Given the description of an element on the screen output the (x, y) to click on. 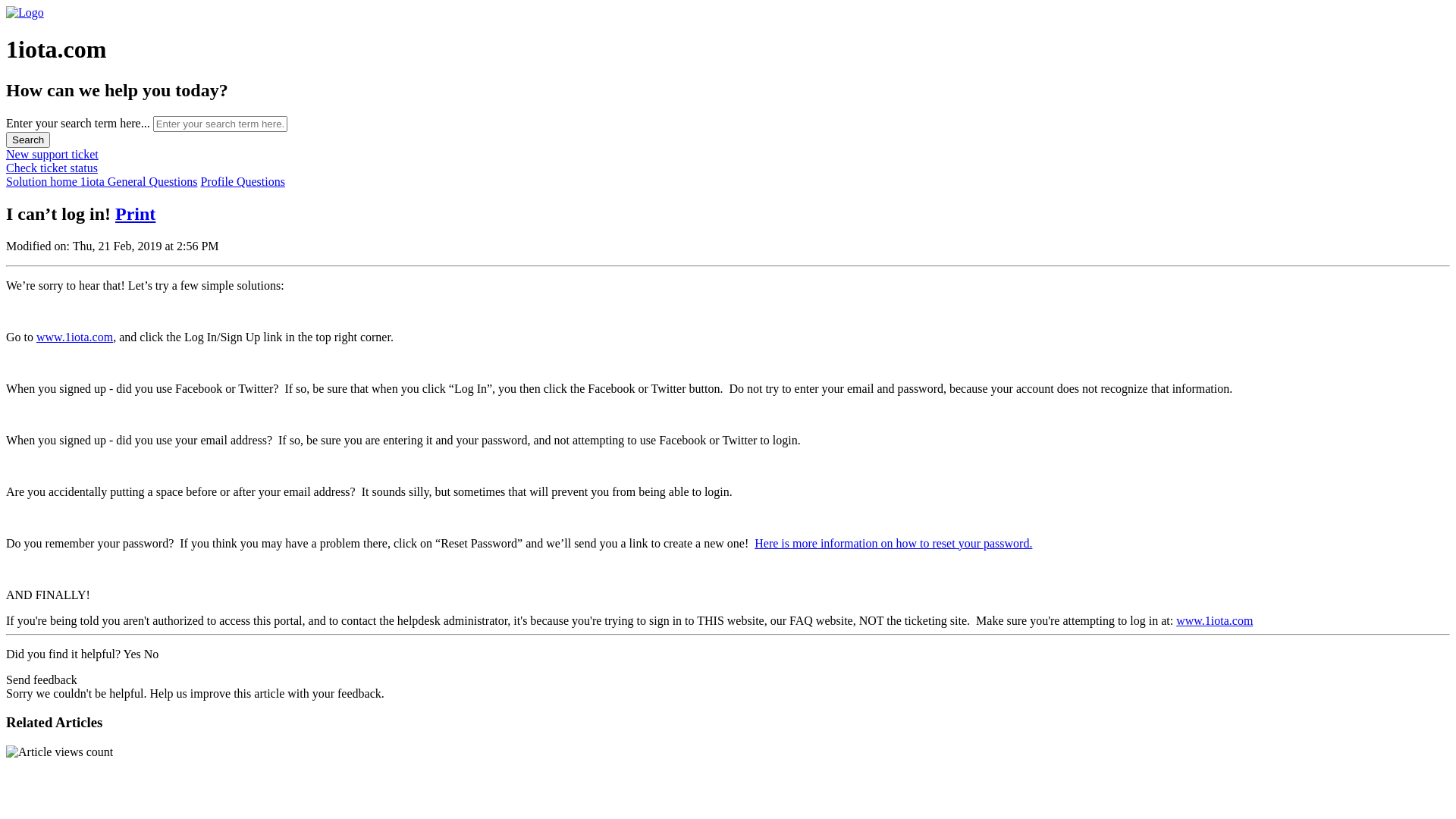
www.1iota.com Element type: text (74, 336)
1iota General Questions Element type: text (138, 181)
Search Element type: text (28, 139)
Here is more information on how to reset your password. Element type: text (893, 542)
Profile Questions Element type: text (242, 181)
New support ticket Element type: text (52, 153)
Print Element type: text (135, 213)
Solution home Element type: text (43, 181)
Check ticket status Element type: text (51, 167)
www.1iota.com Element type: text (1214, 620)
Send feedback Element type: text (41, 679)
